Given the description of an element on the screen output the (x, y) to click on. 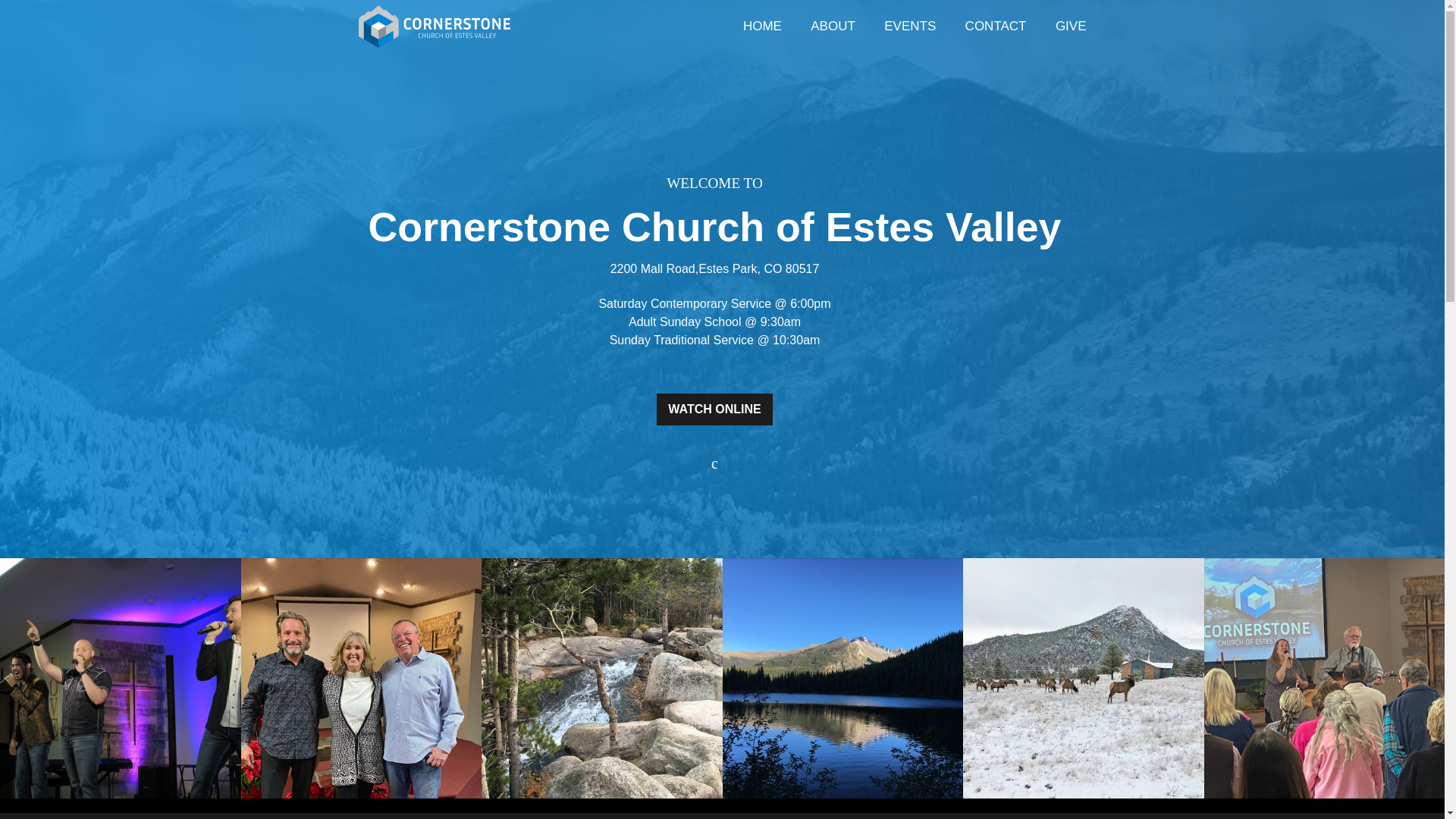
Img 1847 (842, 678)
Img 1870 (601, 678)
ABOUT (832, 26)
Church 12 2021 (1083, 678)
GIVE (1070, 26)
Img 1248 (120, 678)
EVENTS (909, 26)
WATCH ONLINE (713, 418)
CONTACT (995, 26)
Img 9113 (361, 678)
HOME (762, 26)
